Given the description of an element on the screen output the (x, y) to click on. 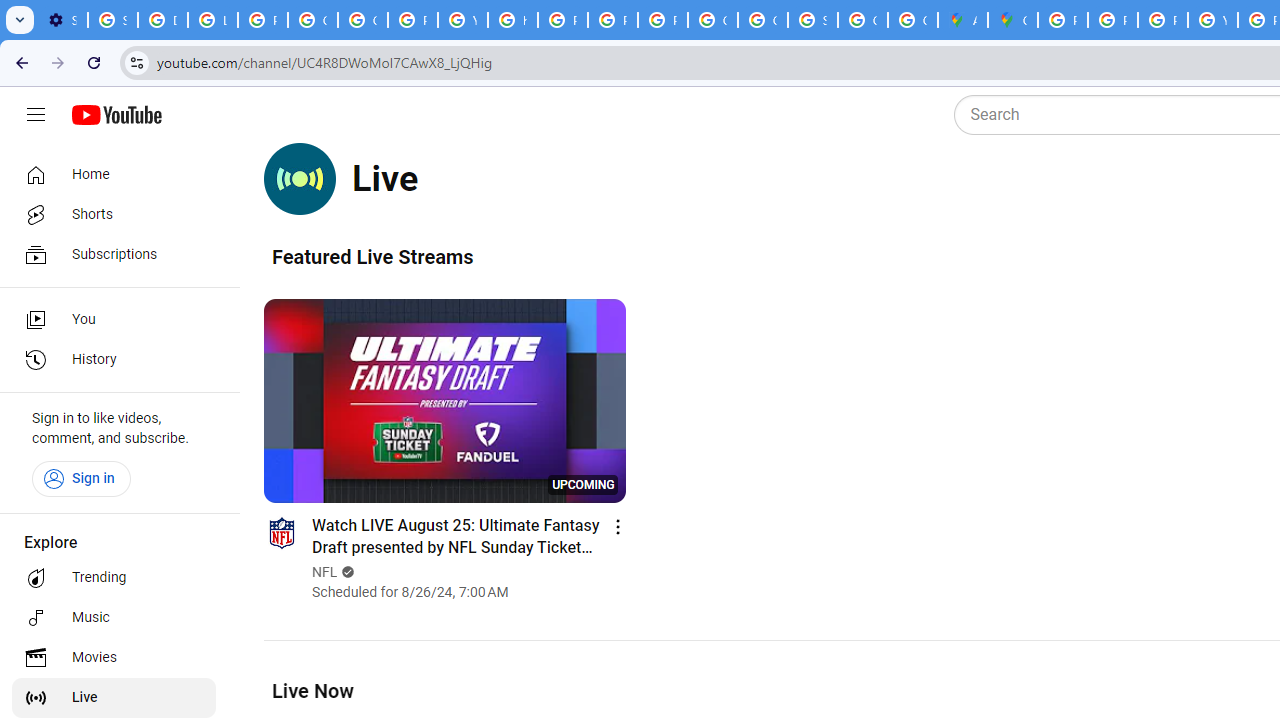
YouTube Home (116, 115)
Create your Google Account (913, 20)
Google Account Help (312, 20)
Privacy Help Center - Policies Help (562, 20)
Live (113, 697)
YouTube (462, 20)
Action menu (617, 526)
Google Account Help (362, 20)
Subscriptions (113, 254)
History (113, 359)
Trending (113, 578)
Sign in - Google Accounts (113, 20)
